Given the description of an element on the screen output the (x, y) to click on. 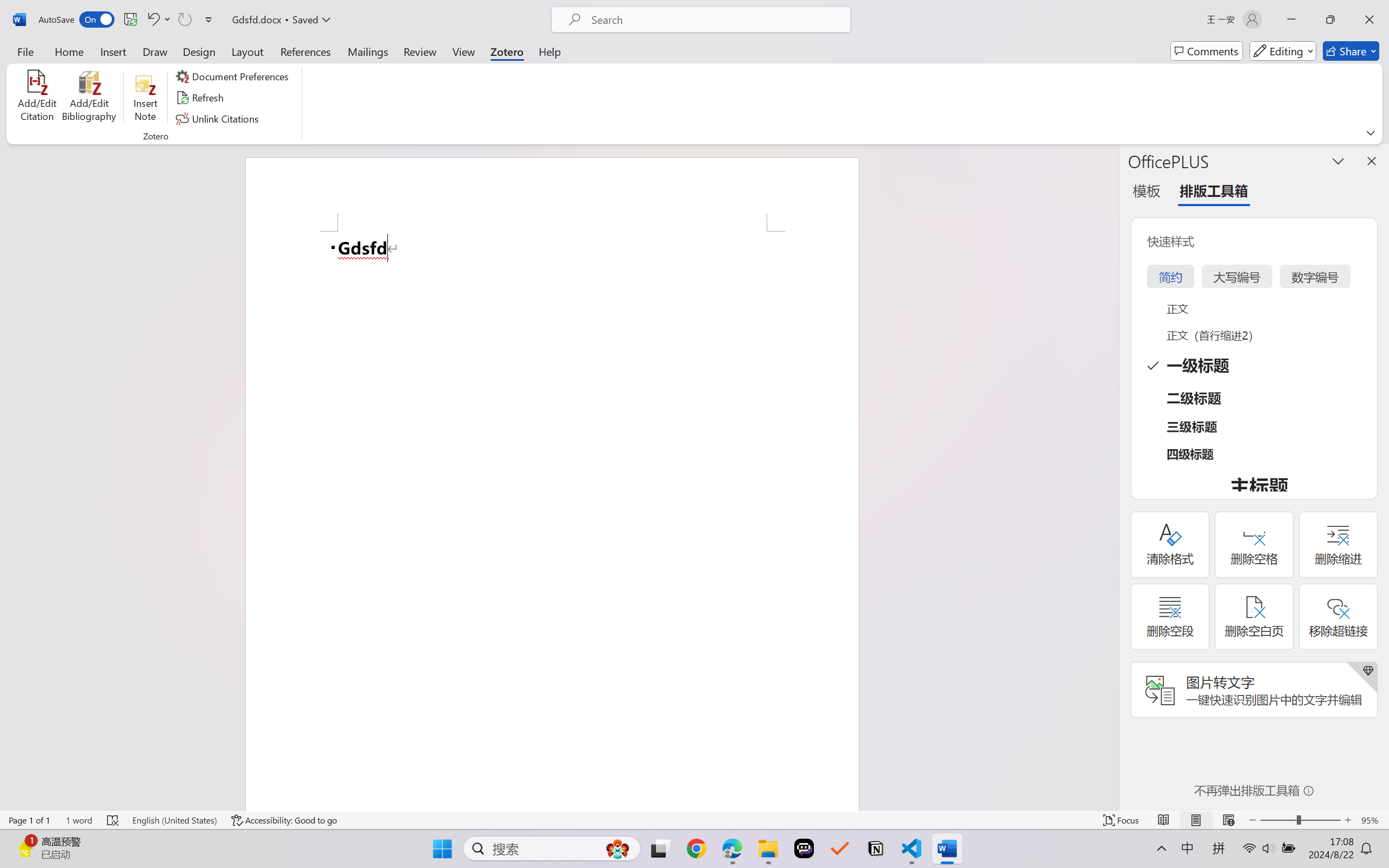
Undo <ApplyStyleToDoc>b__0 (158, 19)
Undo <ApplyStyleToDoc>b__0 (152, 19)
Spelling and Grammar Check Errors (113, 819)
